Given the description of an element on the screen output the (x, y) to click on. 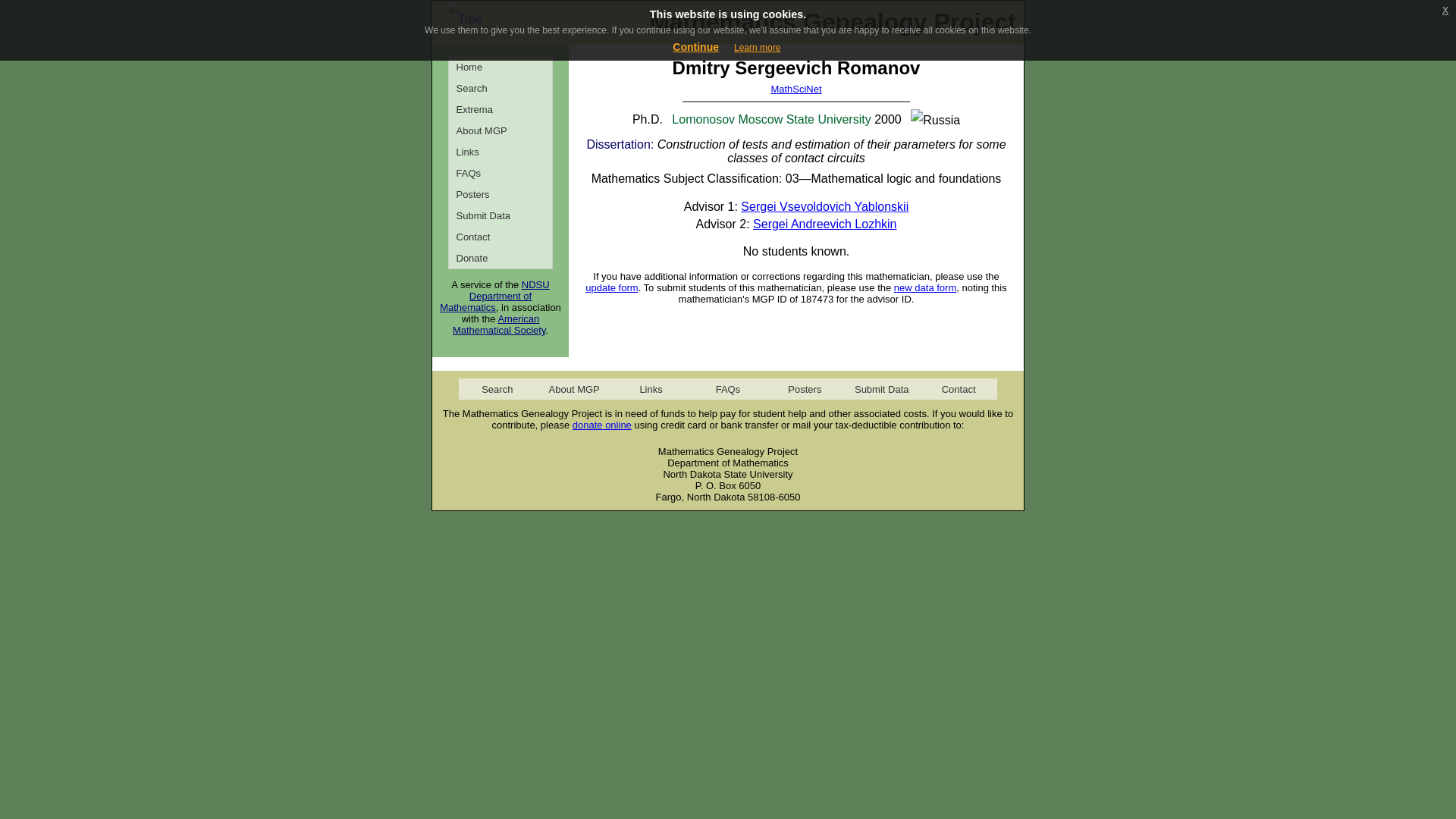
new data form (924, 287)
About MGP (573, 388)
Home (500, 66)
Submit Data (500, 215)
Department of Mathematics (485, 301)
American Mathematical Society (499, 323)
Submit Data (881, 388)
About MGP (500, 129)
donate online (601, 424)
Frequently Asked Questions (500, 172)
Search (496, 388)
Continue (695, 46)
Contact (500, 236)
Extrema (500, 108)
Posters (500, 193)
